Given the description of an element on the screen output the (x, y) to click on. 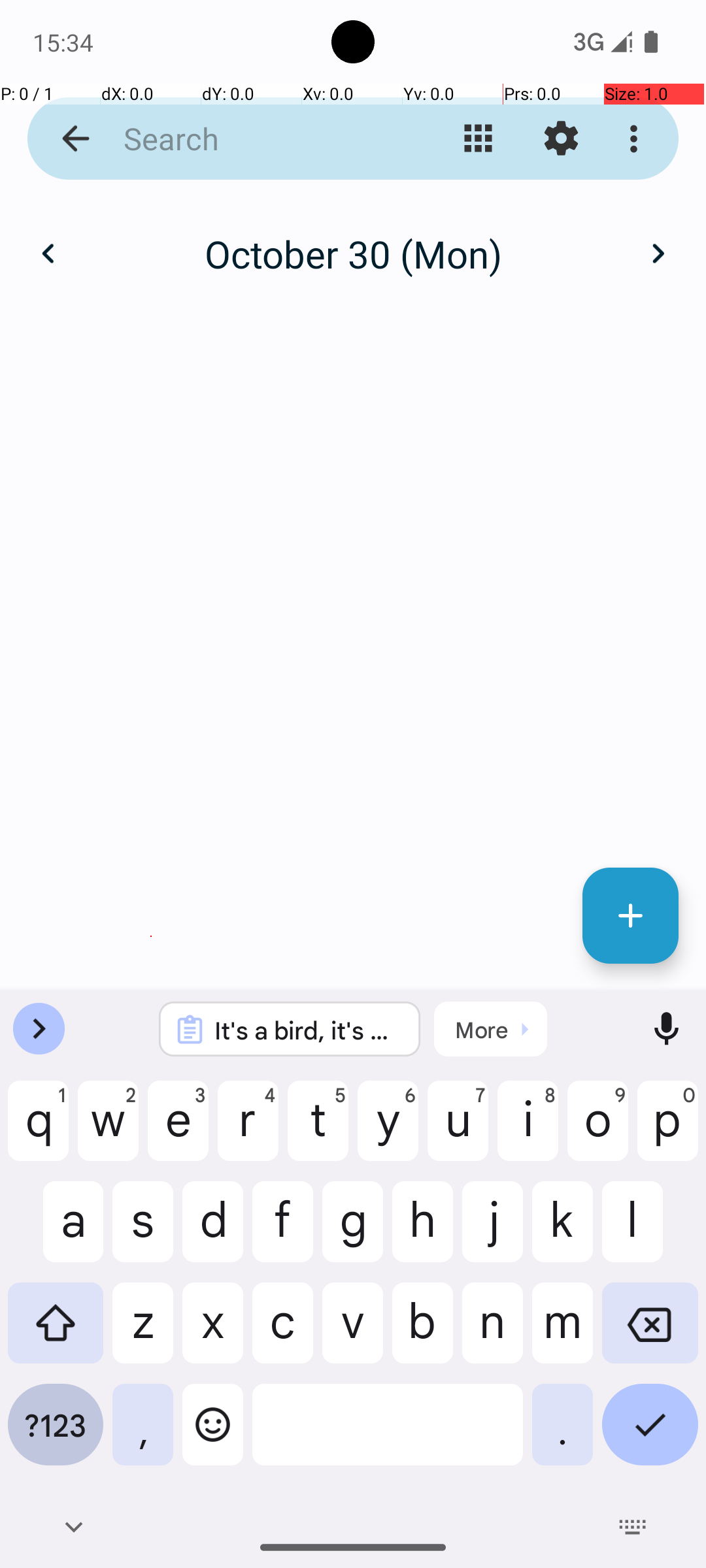
October 30 (Mon) Element type: android.widget.TextView (352, 253)
It's a bird, it's a plane. Element type: android.widget.TextView (306, 1029)
